Given the description of an element on the screen output the (x, y) to click on. 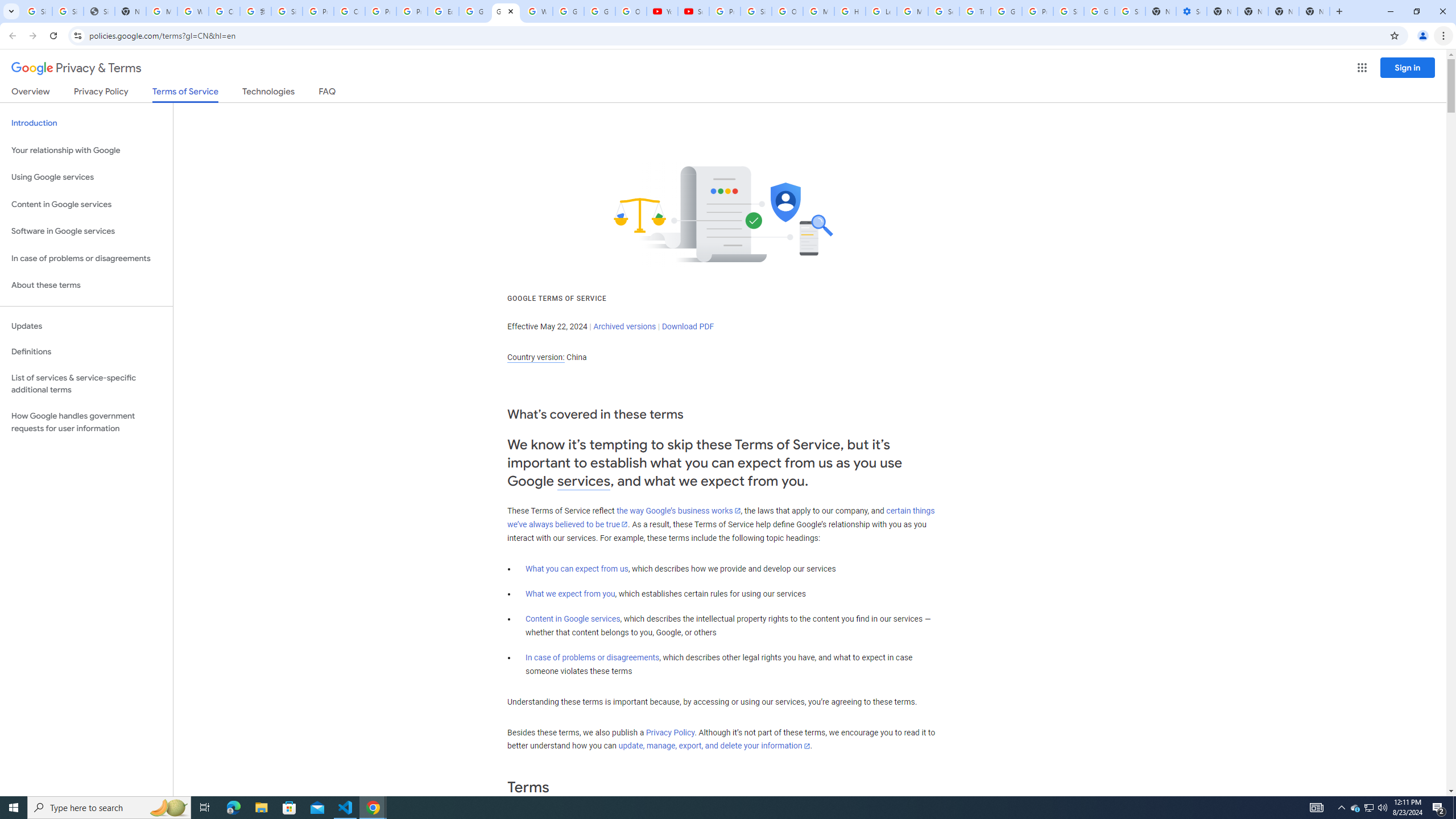
Terms of Service (184, 94)
Technologies (268, 93)
Privacy & Terms (76, 68)
Welcome to My Activity (536, 11)
FAQ (327, 93)
Sign In - USA TODAY (98, 11)
